Given the description of an element on the screen output the (x, y) to click on. 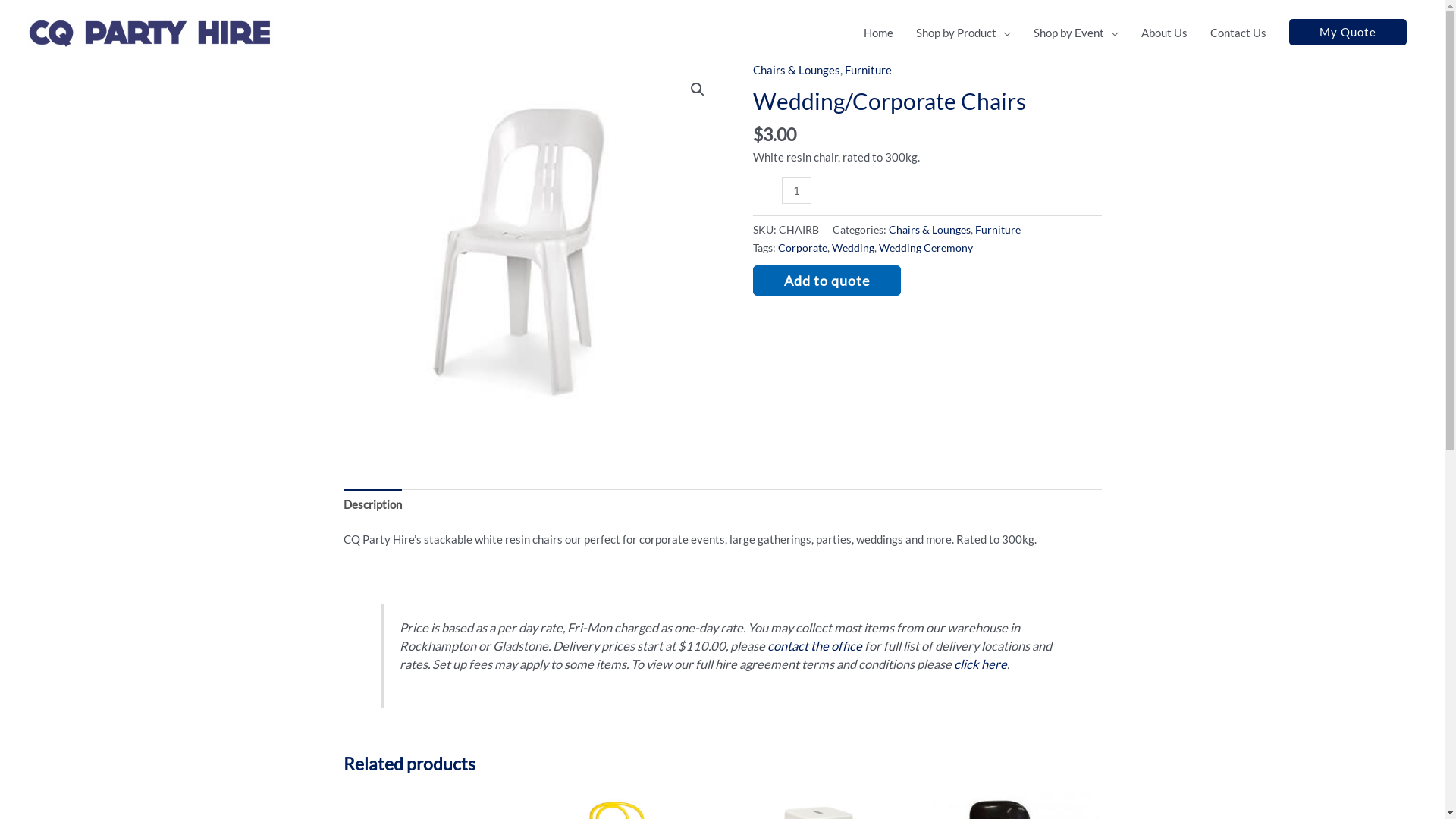
Description Element type: text (371, 503)
Chairs & Lounges Element type: text (795, 69)
Shop by Event Element type: text (1075, 32)
click here Element type: text (980, 663)
Contact Us Element type: text (1237, 32)
My Quote Element type: text (1347, 31)
Furniture Element type: text (997, 229)
Chairs & Lounges Element type: text (929, 229)
Shop by Product Element type: text (963, 32)
contact the office Element type: text (814, 645)
Furniture Element type: text (867, 69)
About Us Element type: text (1163, 32)
Corporate Element type: text (802, 247)
Add to quote Element type: text (826, 280)
Wedding Element type: text (852, 247)
Wedding Ceremony Element type: text (925, 247)
Party Chair Element type: hover (531, 253)
Home Element type: text (878, 32)
